Given the description of an element on the screen output the (x, y) to click on. 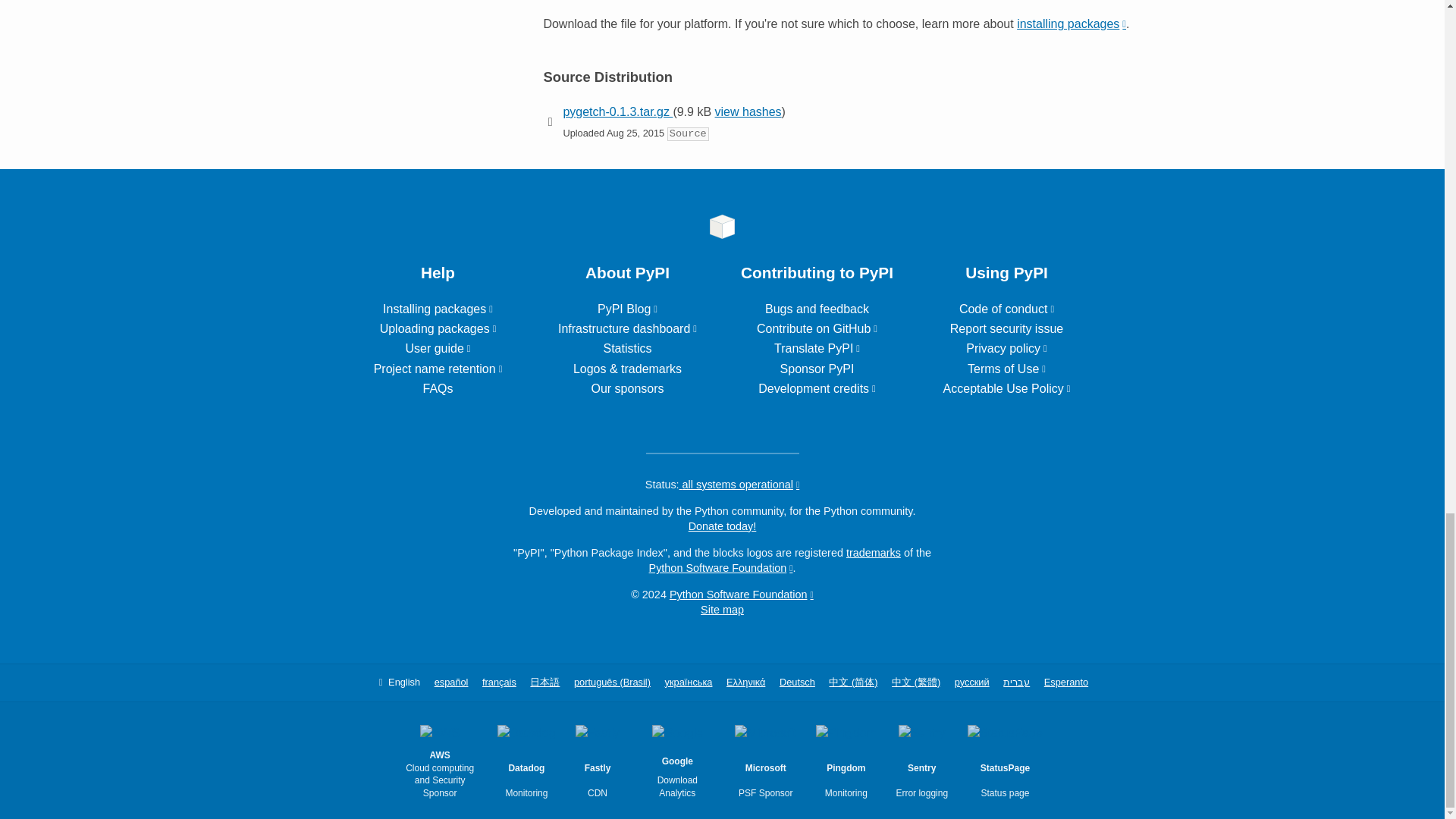
External link (627, 308)
External link (438, 328)
External link (817, 348)
External link (1070, 23)
External link (437, 348)
External link (438, 368)
External link (1006, 308)
installing packages (1070, 23)
External link (817, 328)
External link (1006, 348)
External link (817, 388)
view hashes (747, 111)
External link (627, 328)
pygetch-0.1.3.tar.gz (617, 111)
External link (437, 308)
